Given the description of an element on the screen output the (x, y) to click on. 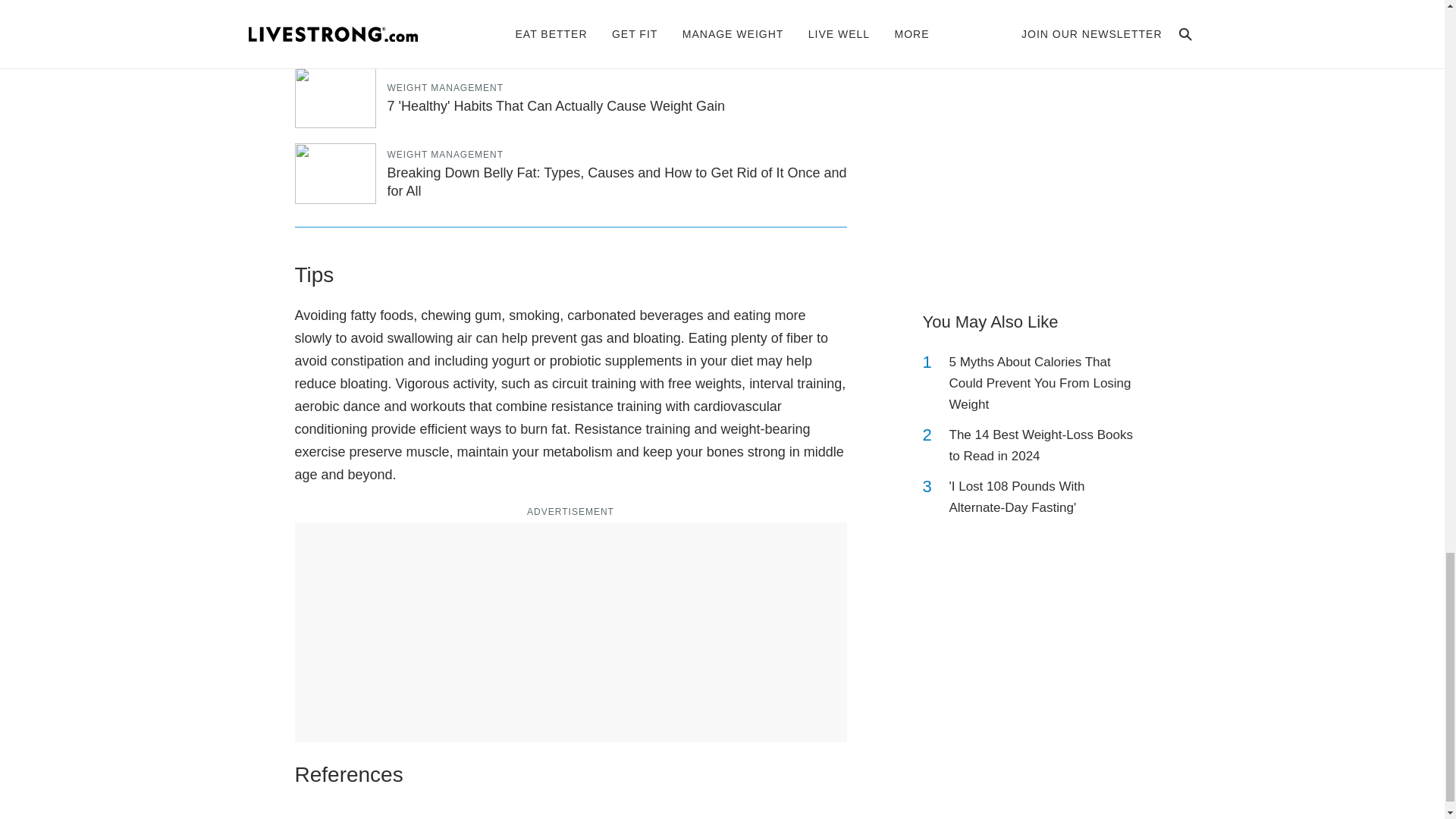
7 'Healthy' Habits That Can Actually Cause Weight Gain (555, 105)
'I Lost 108 Pounds With Alternate-Day Fasting' (1042, 496)
'I Lost 108 Pounds With Alternate-Day Fasting' (1042, 496)
The 14 Best Weight-Loss Books to Read in 2024 (1042, 445)
Here's What You Should Know Before You Try Jenny Craig (564, 29)
The 14 Best Weight-Loss Books to Read in 2024 (1042, 445)
